Given the description of an element on the screen output the (x, y) to click on. 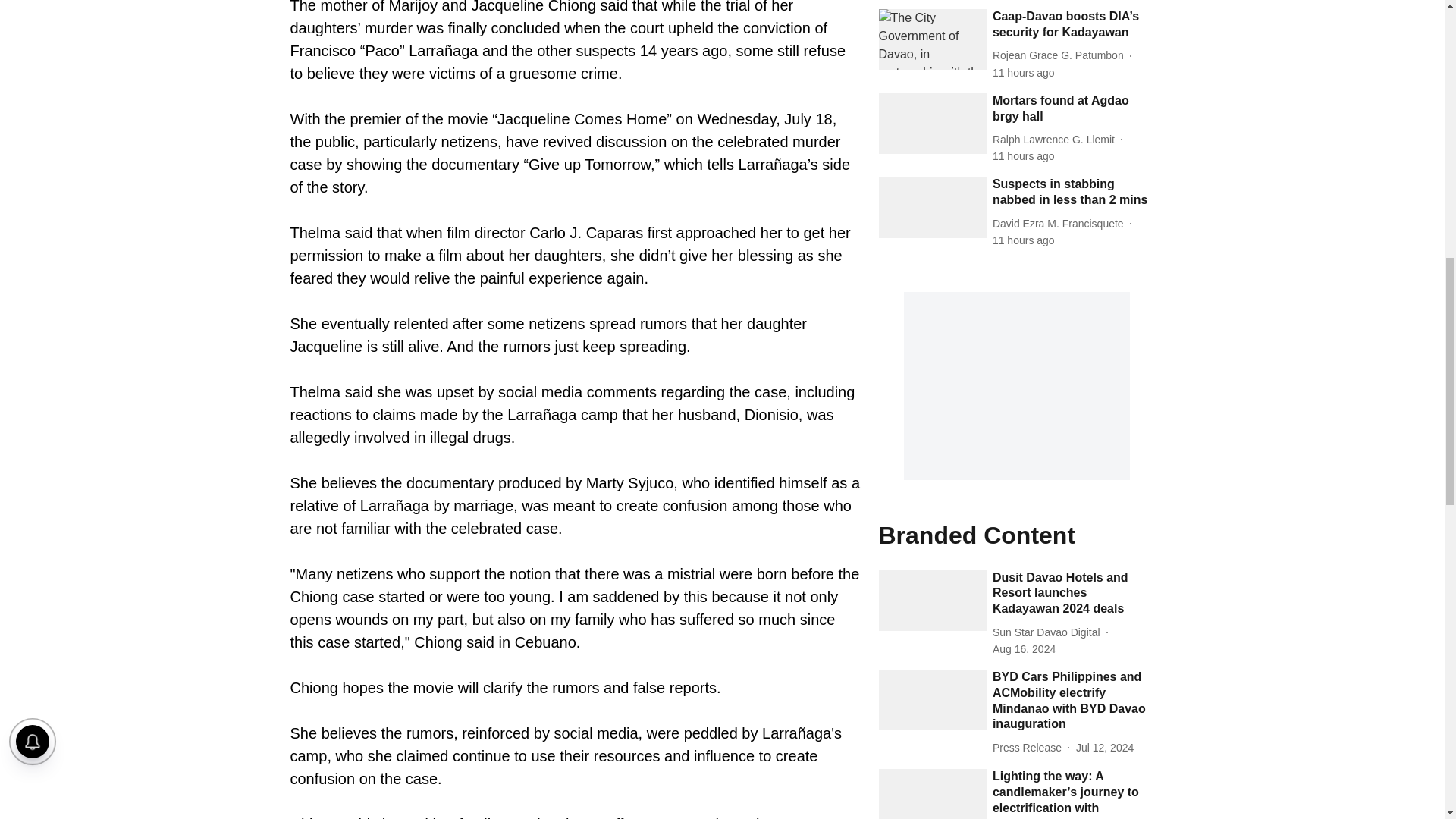
2024-07-12 10:22 (1104, 747)
2024-08-16 18:28 (1023, 240)
2024-08-16 05:39 (1023, 649)
2024-08-16 18:52 (1023, 73)
2024-08-16 18:38 (1023, 156)
